Given the description of an element on the screen output the (x, y) to click on. 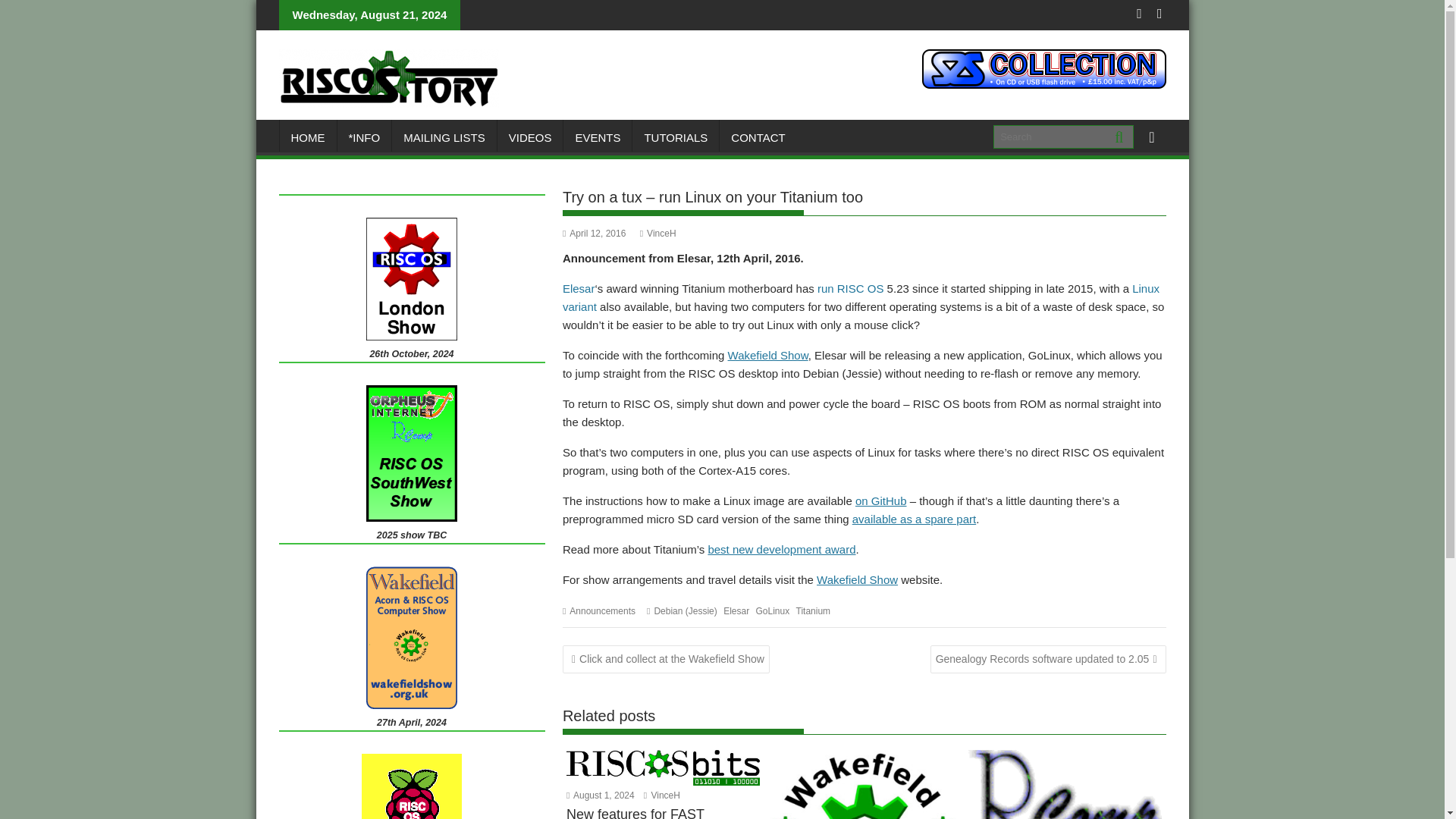
VIDEOS (530, 137)
Wakefield Show (857, 579)
Wakefield Show (768, 354)
Linux variant (860, 296)
CONTACT (757, 137)
MAILING LISTS (443, 137)
run RISC OS (849, 287)
VinceH (658, 233)
Elesar (578, 287)
April 12, 2016 (594, 233)
